Given the description of an element on the screen output the (x, y) to click on. 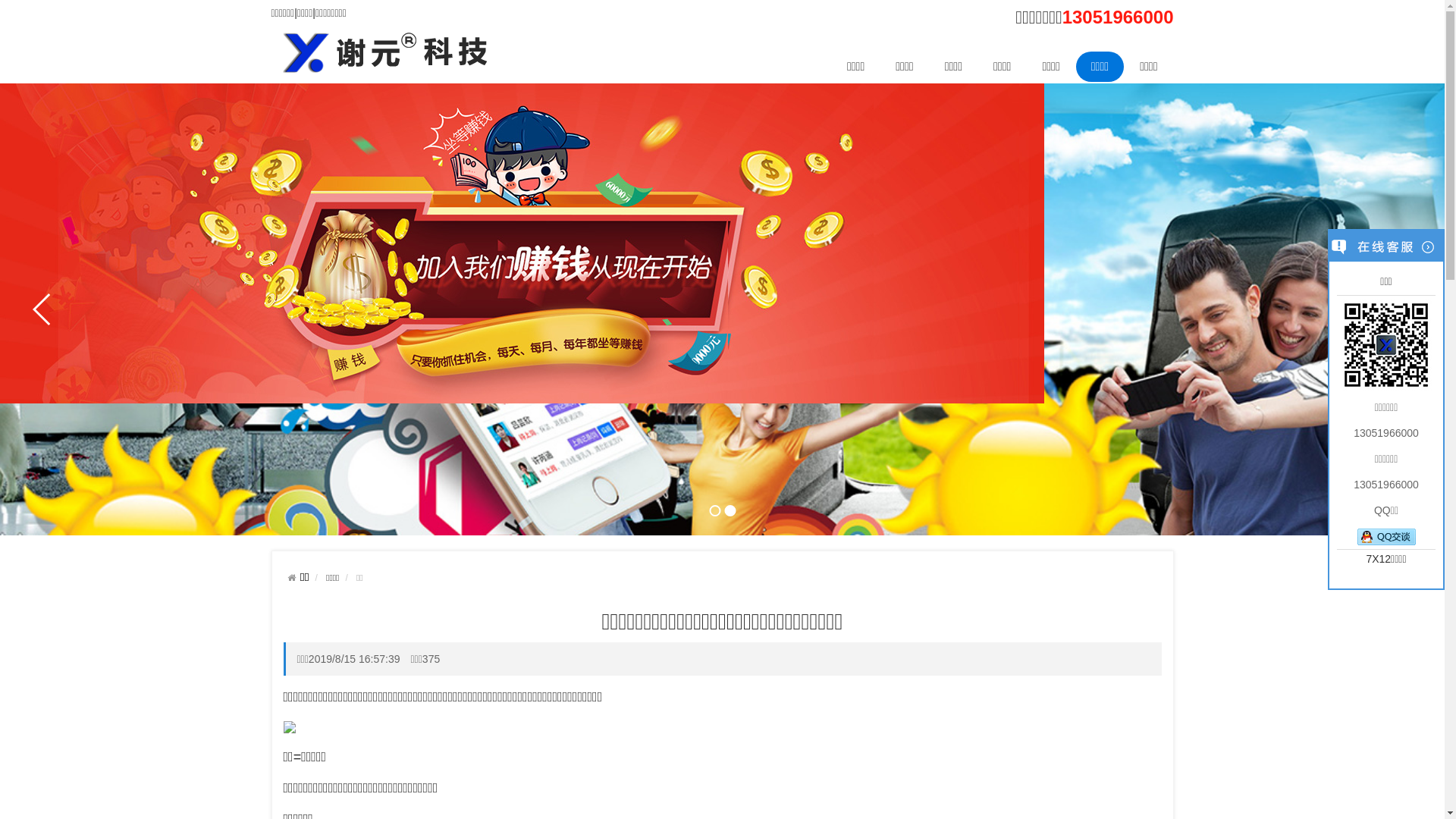
next Element type: text (1402, 309)
prev Element type: text (42, 309)
